Given the description of an element on the screen output the (x, y) to click on. 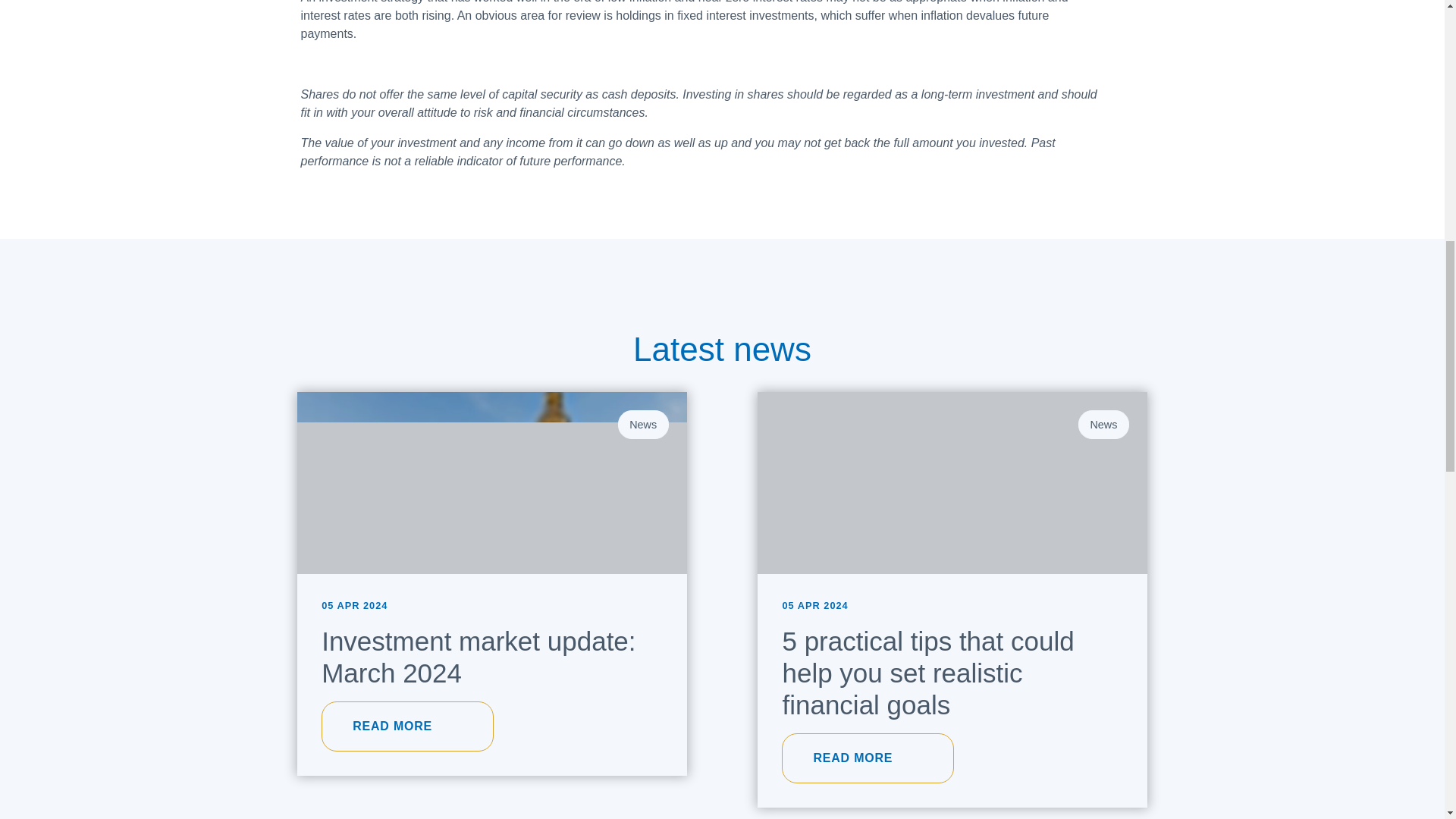
READ MORE (867, 757)
News (642, 424)
News (1103, 424)
READ MORE (407, 726)
